Given the description of an element on the screen output the (x, y) to click on. 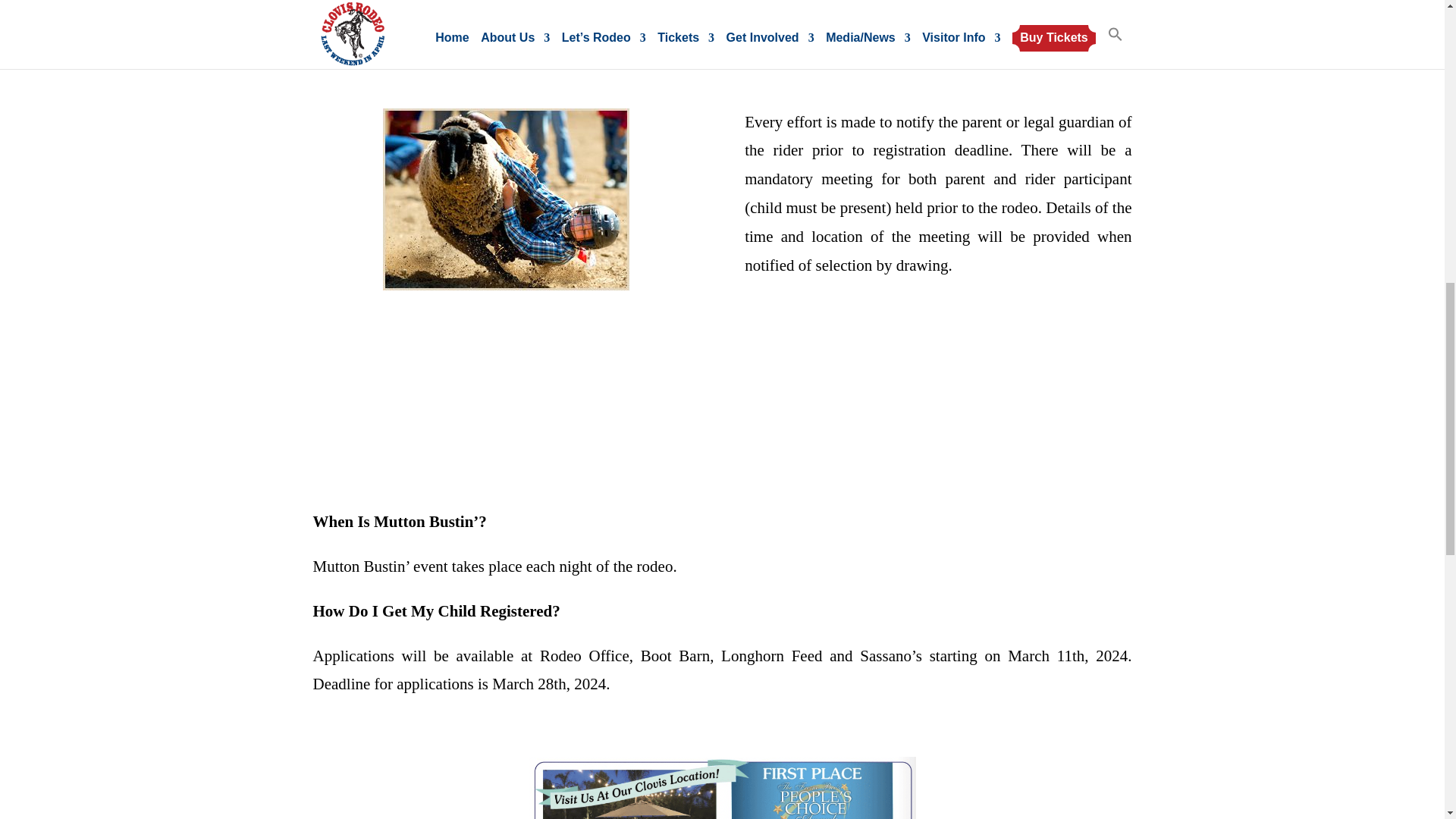
HOLIDAY POOLS AND SPA (721, 787)
mutton1 (505, 199)
